Given the description of an element on the screen output the (x, y) to click on. 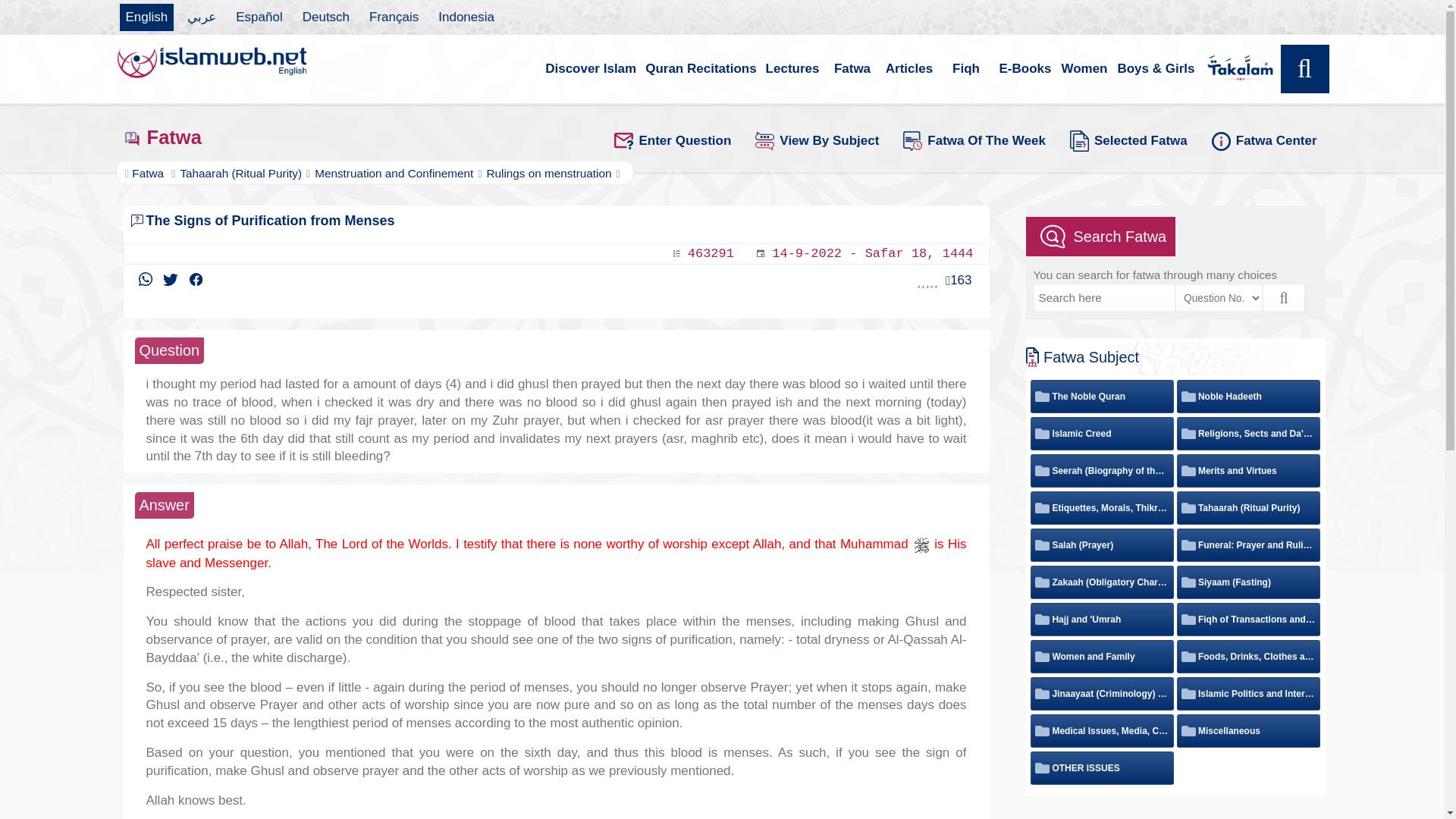
Merits and Virtues (1228, 470)
Islamic Politics and International Affairs (1248, 694)
on (1185, 433)
on (1185, 619)
Indonesia (466, 17)
Fiqh of Transactions and Inheritance (1248, 619)
on (1185, 656)
Medical Issues, Media, Culture and Means of Entertainment (1102, 730)
English (146, 17)
Funeral: Prayer and Rulings  (1248, 545)
RATE :  (927, 281)
The Noble Quran (1080, 396)
on (1040, 656)
on (1040, 508)
on (1185, 583)
